Given the description of an element on the screen output the (x, y) to click on. 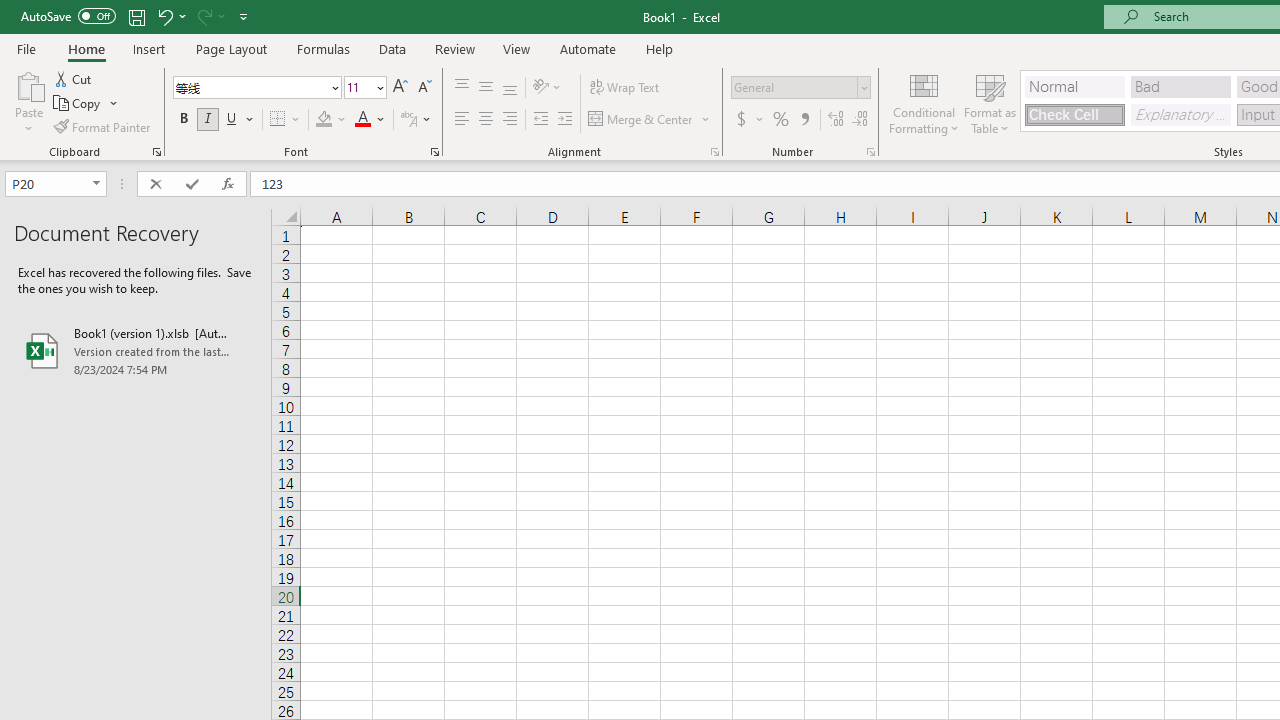
Align Right (509, 119)
Format Cell Alignment (714, 151)
Cut (73, 78)
